Given the description of an element on the screen output the (x, y) to click on. 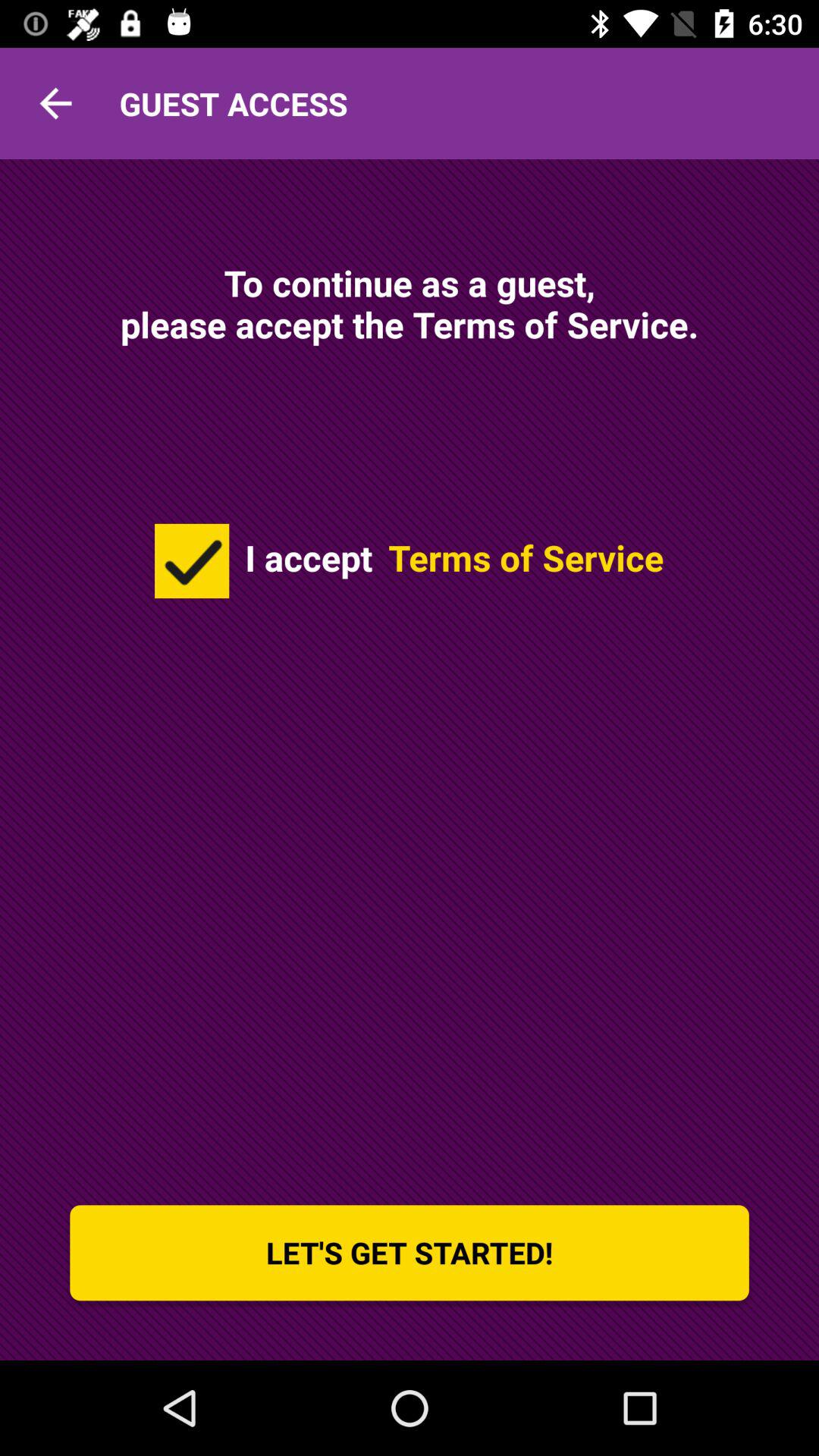
select terms (191, 560)
